Given the description of an element on the screen output the (x, y) to click on. 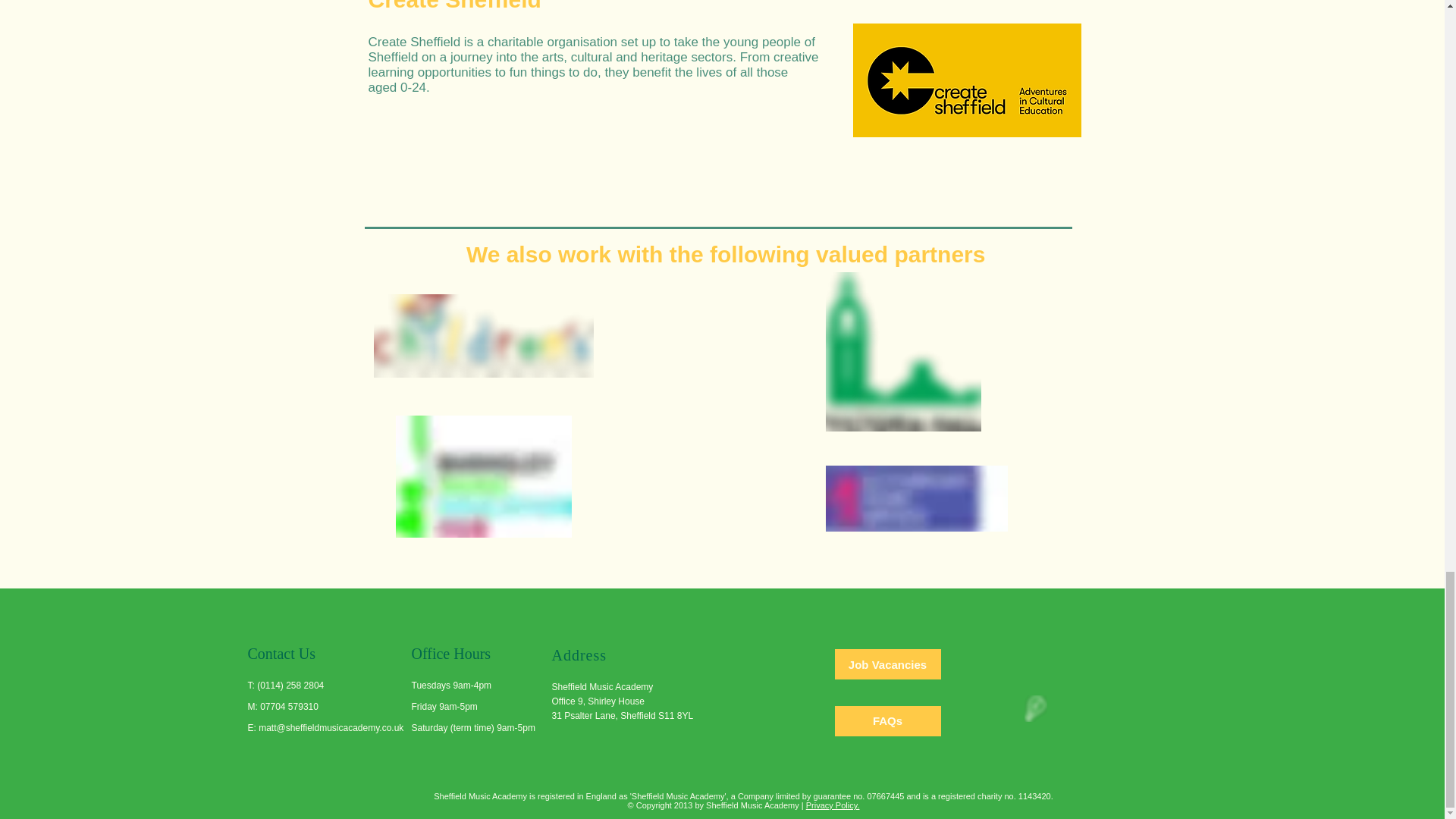
Privacy Policy. (833, 804)
FAQs (887, 720)
Job Vacancies (887, 664)
